Given the description of an element on the screen output the (x, y) to click on. 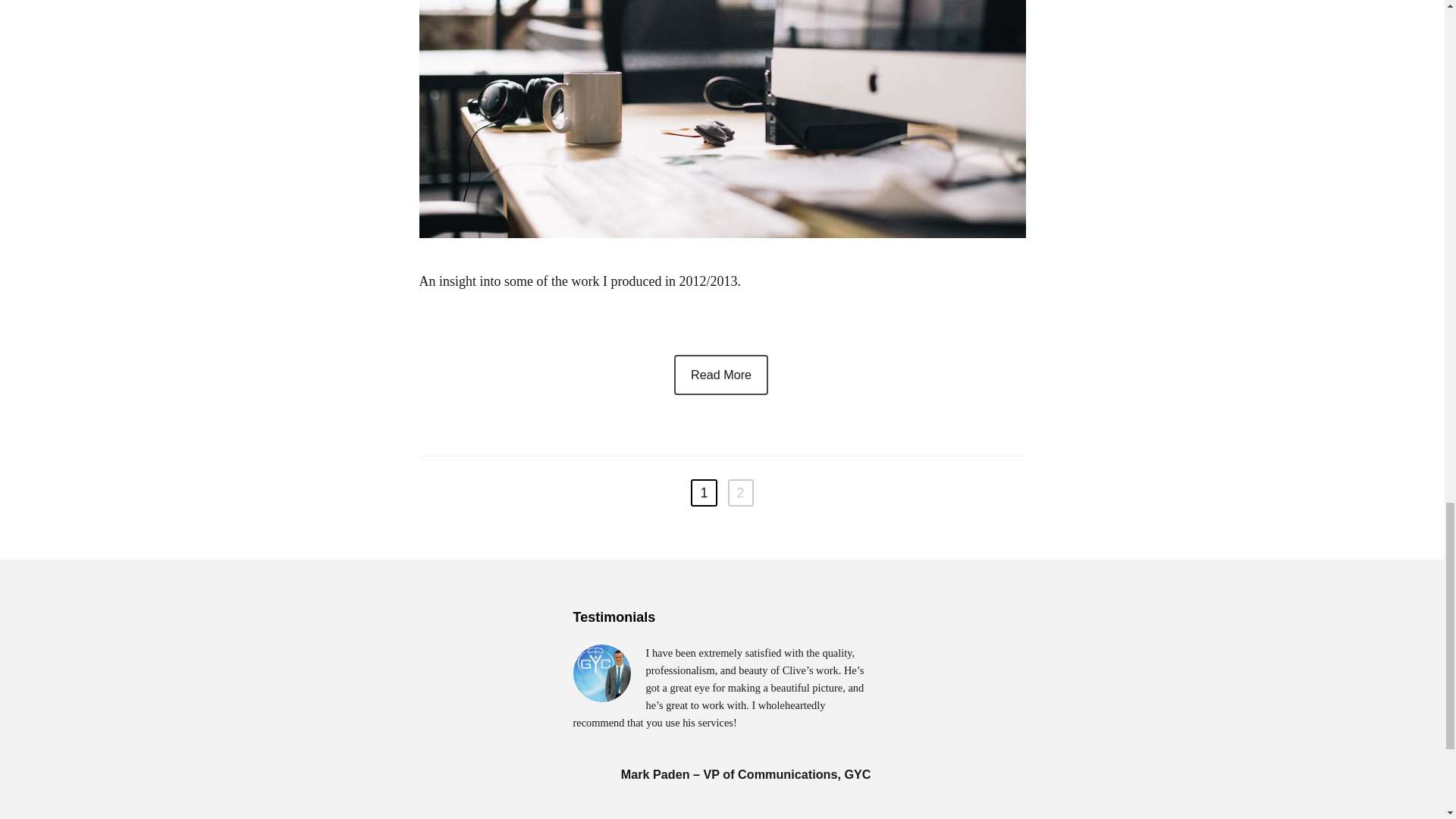
Read More (721, 374)
Showreel 2013 (721, 374)
2 (741, 492)
